Given the description of an element on the screen output the (x, y) to click on. 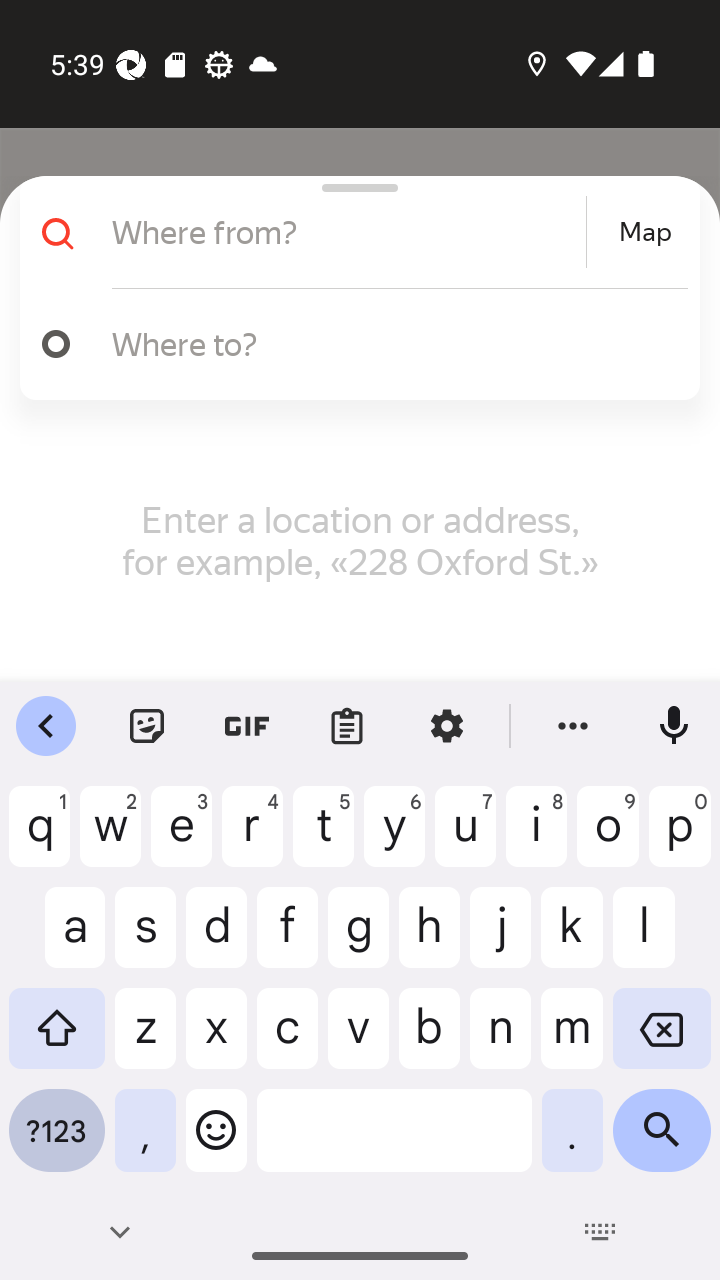
Where from? Map Map (352, 232)
Map (645, 232)
Where from? (346, 232)
Where to? (352, 343)
Where to? (390, 343)
